Given the description of an element on the screen output the (x, y) to click on. 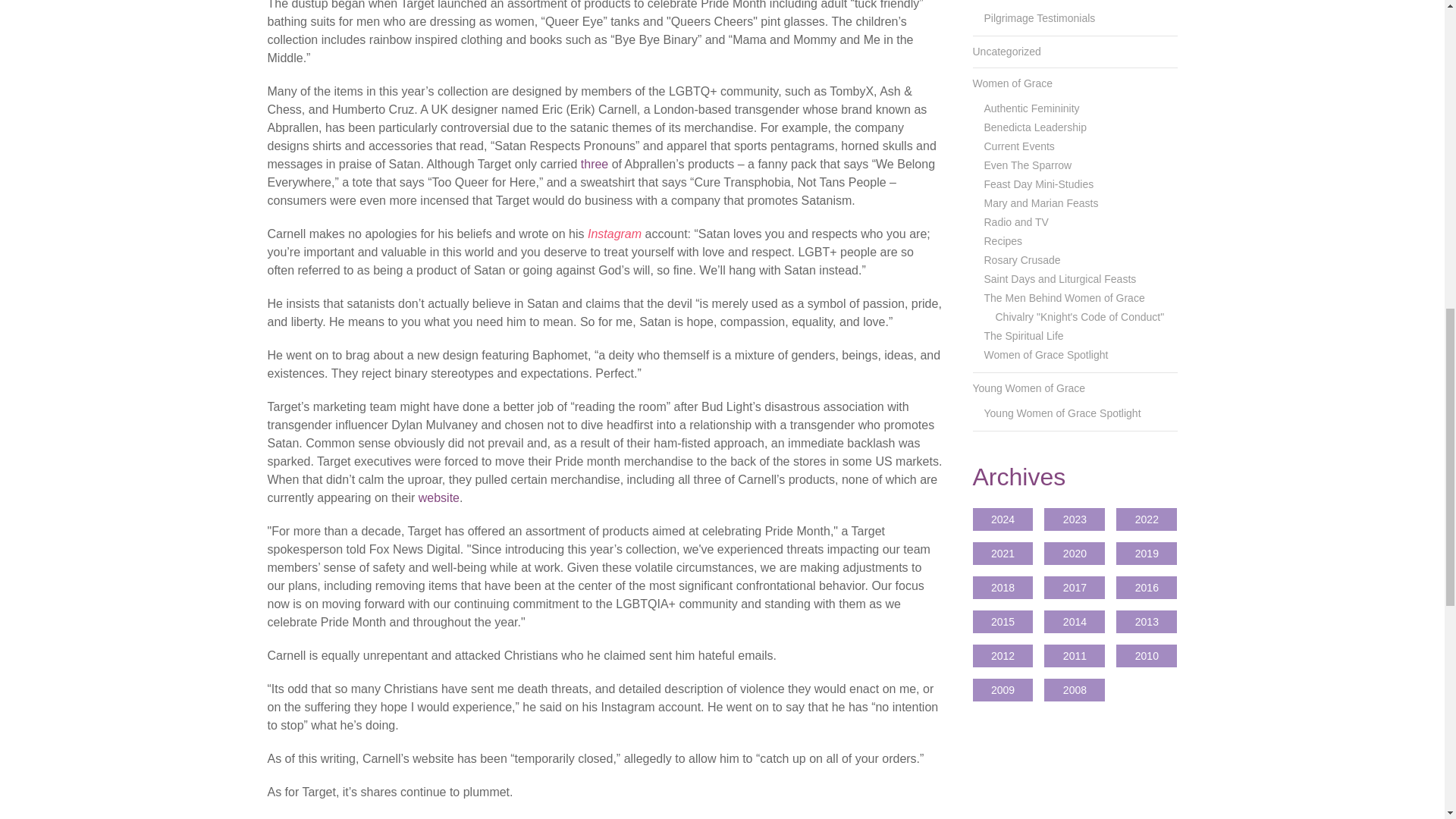
three (594, 164)
Instagram (615, 233)
website (439, 497)
